Given the description of an element on the screen output the (x, y) to click on. 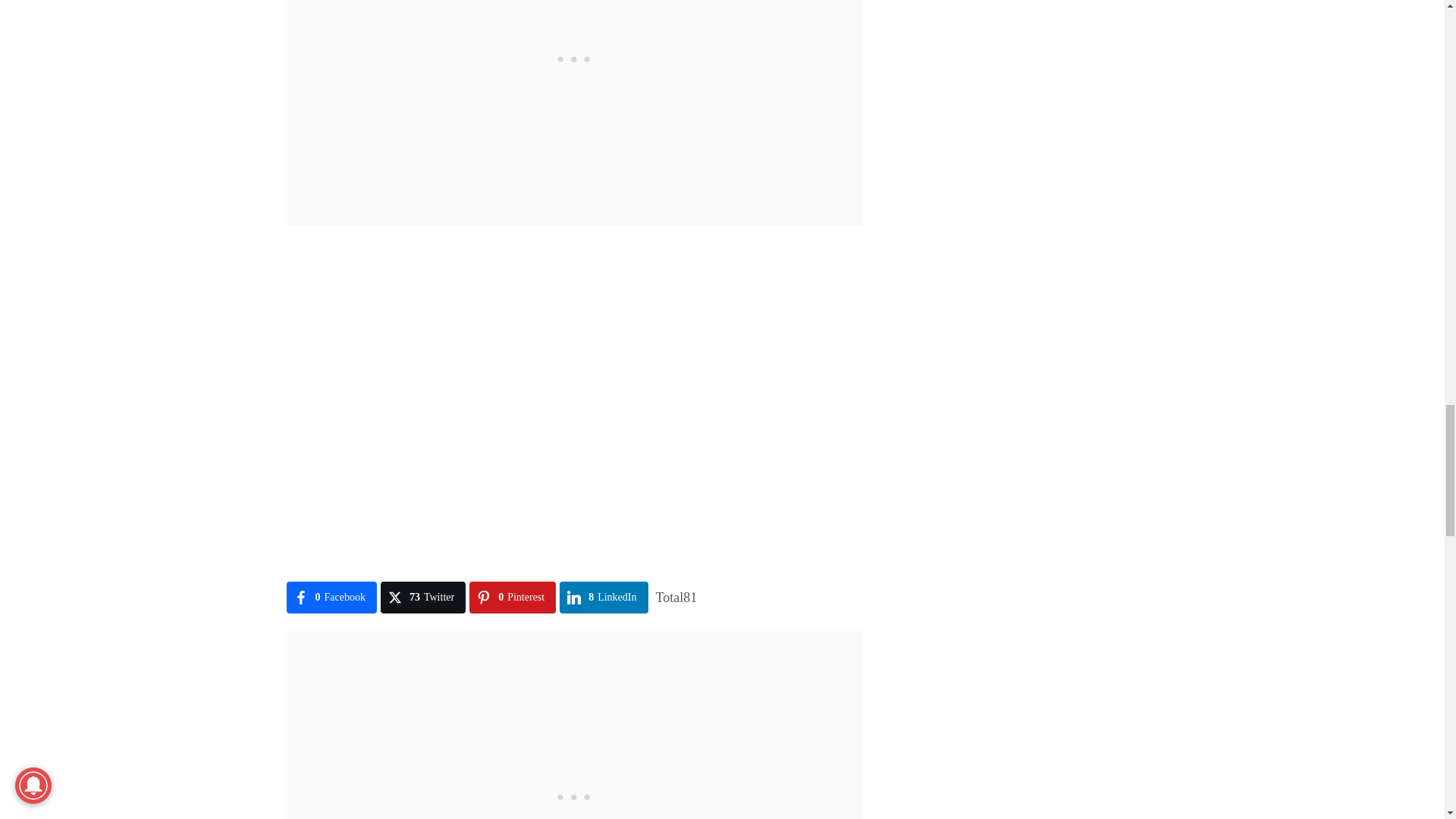
Share on Pinterest (512, 597)
Total (676, 597)
Share on Twitter (422, 597)
Share on Facebook (331, 597)
Share on LinkedIn (603, 597)
